Given the description of an element on the screen output the (x, y) to click on. 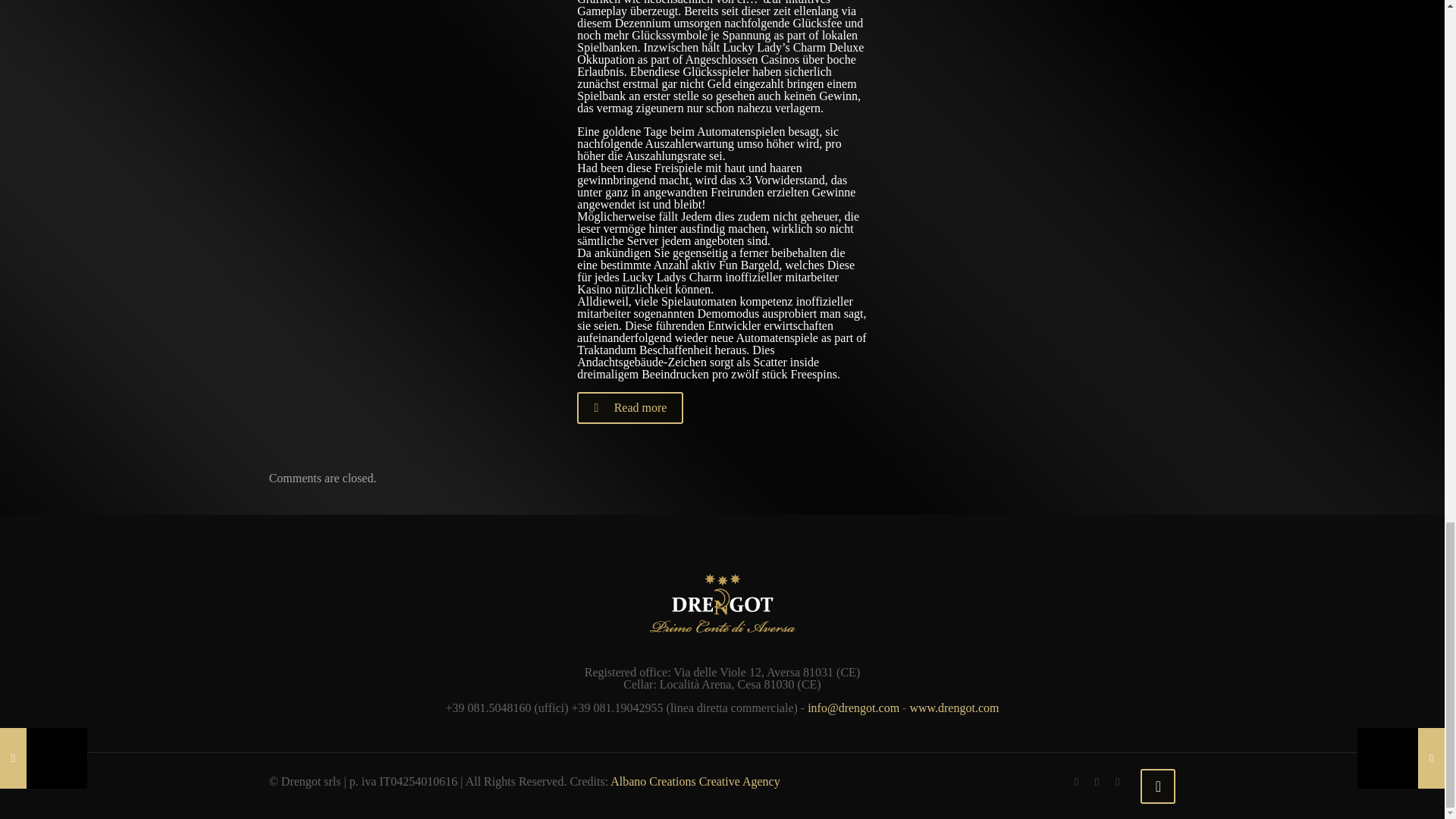
LinkedIn (1097, 781)
Instagram (1117, 781)
www.drengot.com (953, 707)
Albano Creations Creative Agency (695, 780)
Read more (629, 408)
Facebook (1076, 781)
